Given the description of an element on the screen output the (x, y) to click on. 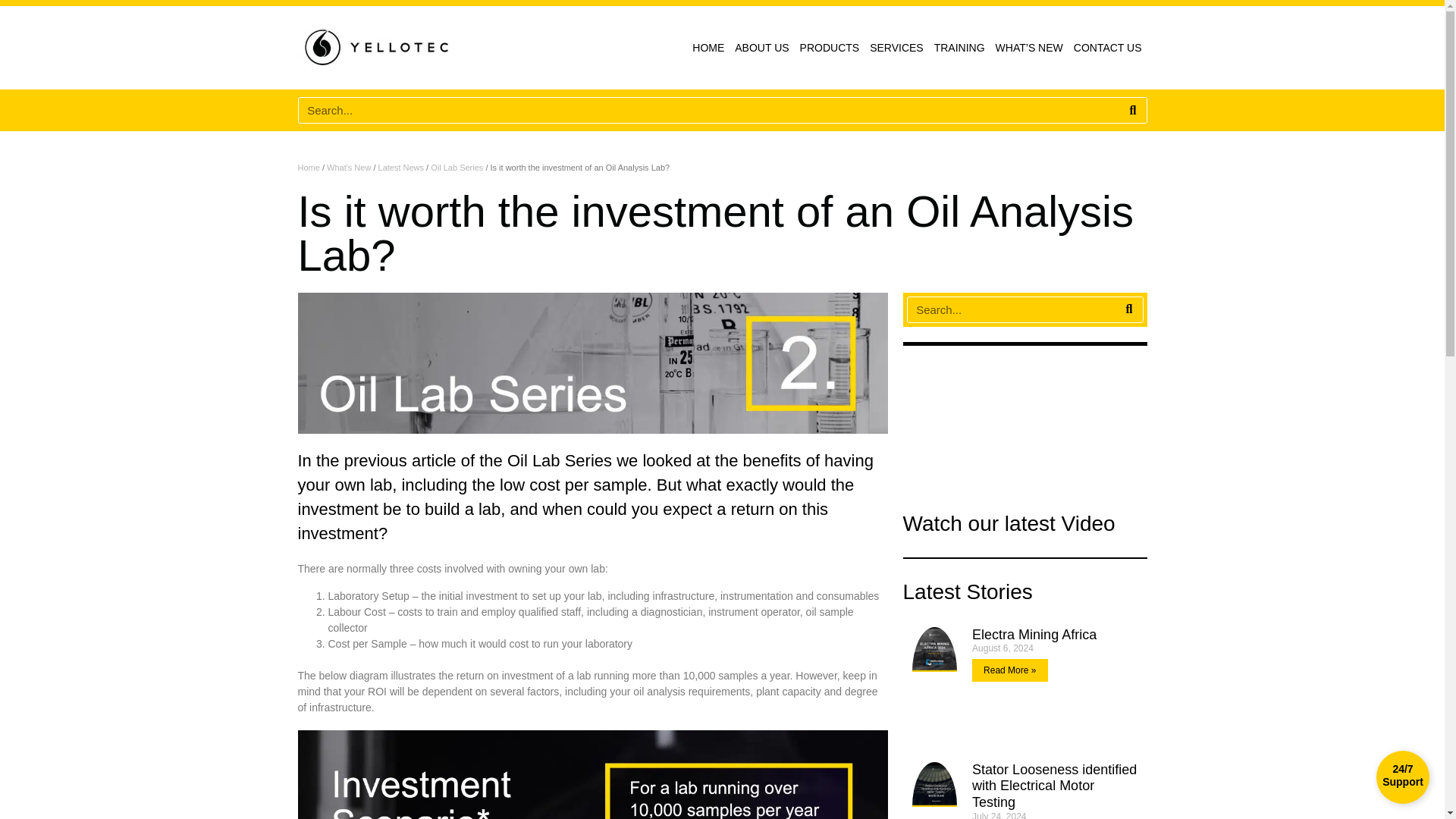
TRAINING (959, 47)
CONTACT US (1107, 47)
HOME (708, 47)
PRODUCTS (829, 47)
ABOUT US (761, 47)
SERVICES (896, 47)
